Given the description of an element on the screen output the (x, y) to click on. 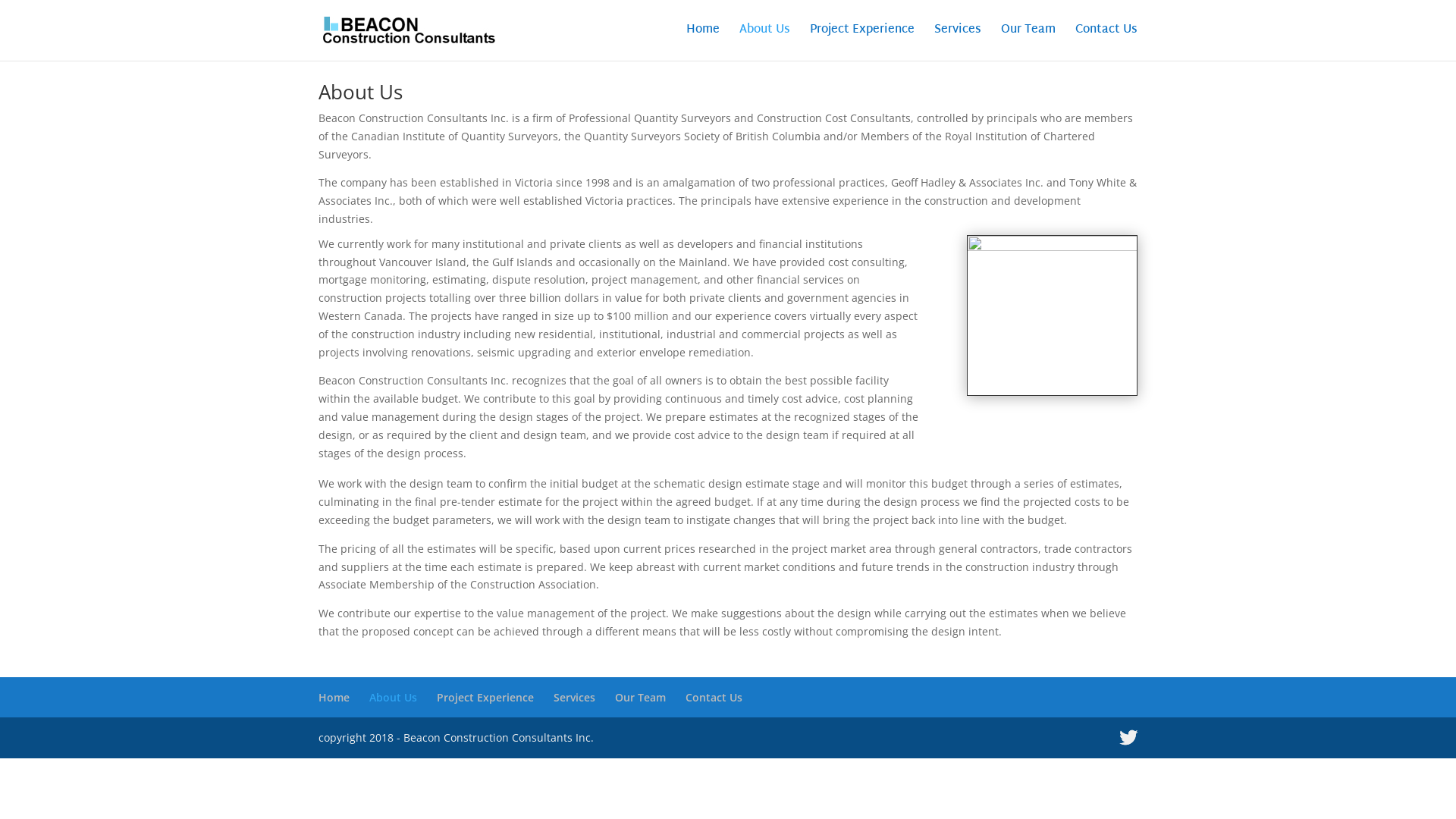
Our Team Element type: text (1028, 42)
Home Element type: text (702, 42)
Contact Us Element type: text (713, 697)
Services Element type: text (574, 697)
Our Team Element type: text (640, 697)
About Us Element type: text (393, 697)
Services Element type: text (957, 42)
Project Experience Element type: text (861, 42)
Contact Us Element type: text (1106, 42)
Home Element type: text (333, 697)
Project Experience Element type: text (484, 697)
About Us Element type: text (764, 42)
